Given the description of an element on the screen output the (x, y) to click on. 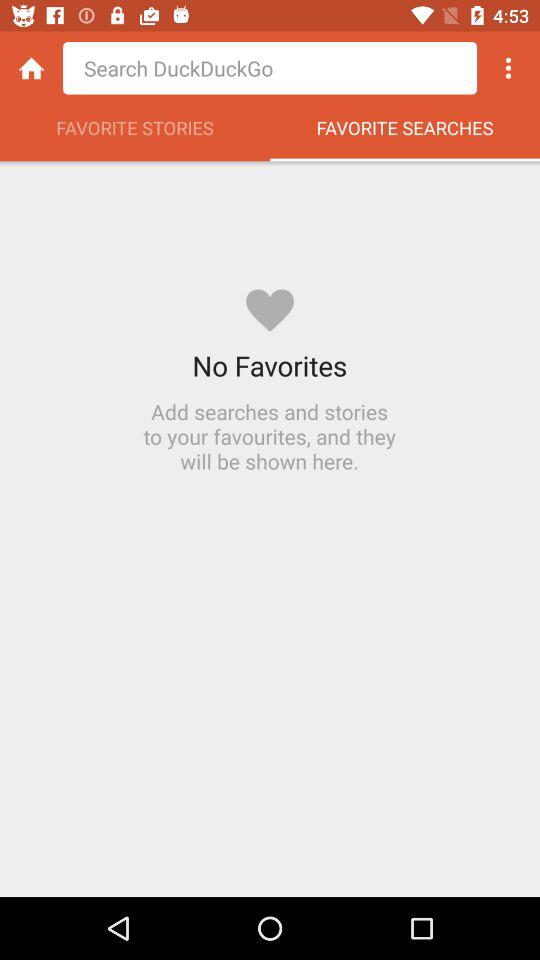
jump to the favorite searches item (405, 133)
